Given the description of an element on the screen output the (x, y) to click on. 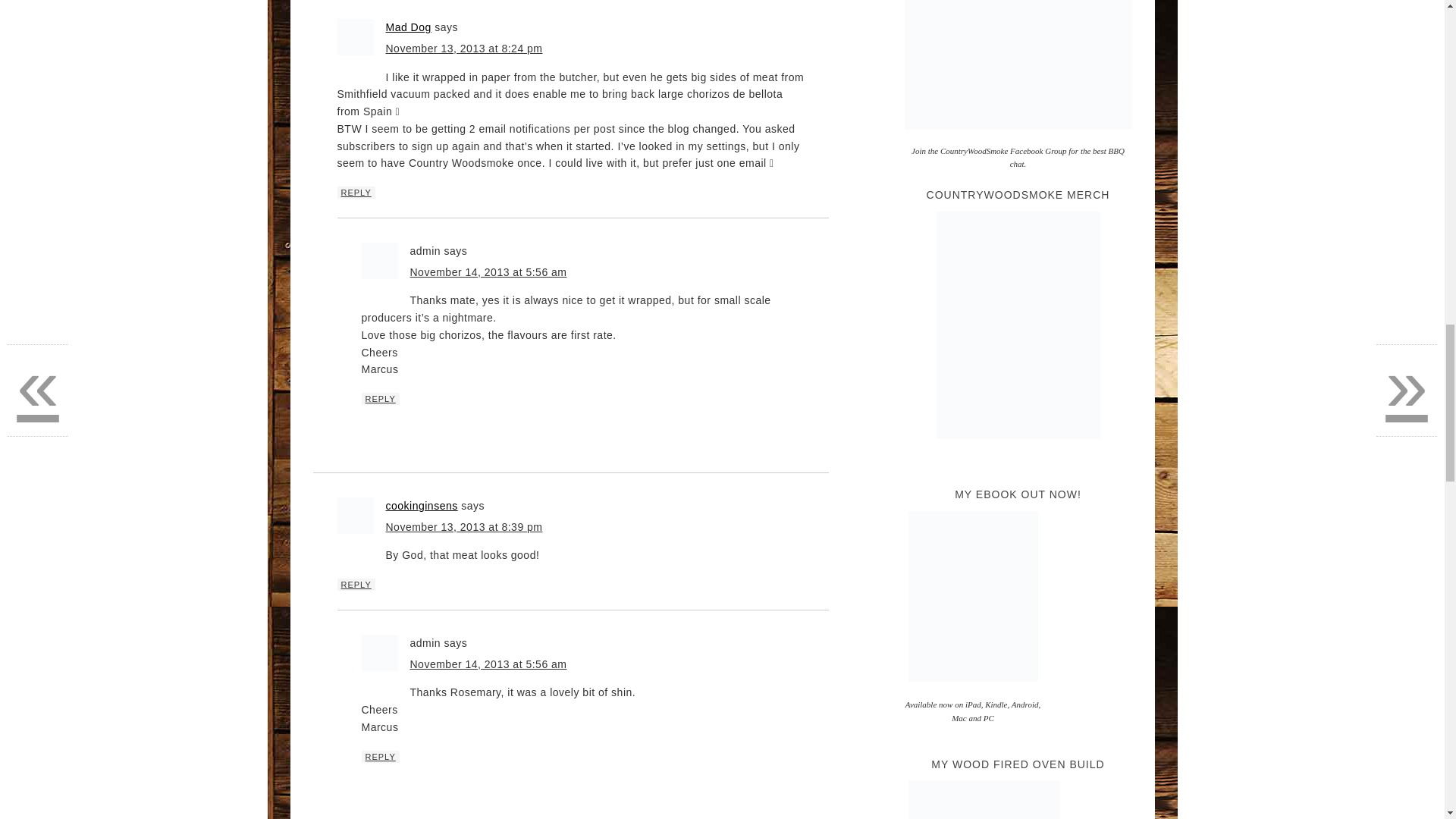
November 13, 2013 at 8:39 pm (463, 526)
REPLY (355, 192)
REPLY (379, 398)
November 14, 2013 at 5:56 am (487, 272)
cookinginsens (421, 505)
Mad Dog (407, 27)
REPLY (355, 584)
November 13, 2013 at 8:24 pm (463, 48)
REPLY (379, 756)
November 14, 2013 at 5:56 am (487, 664)
